Given the description of an element on the screen output the (x, y) to click on. 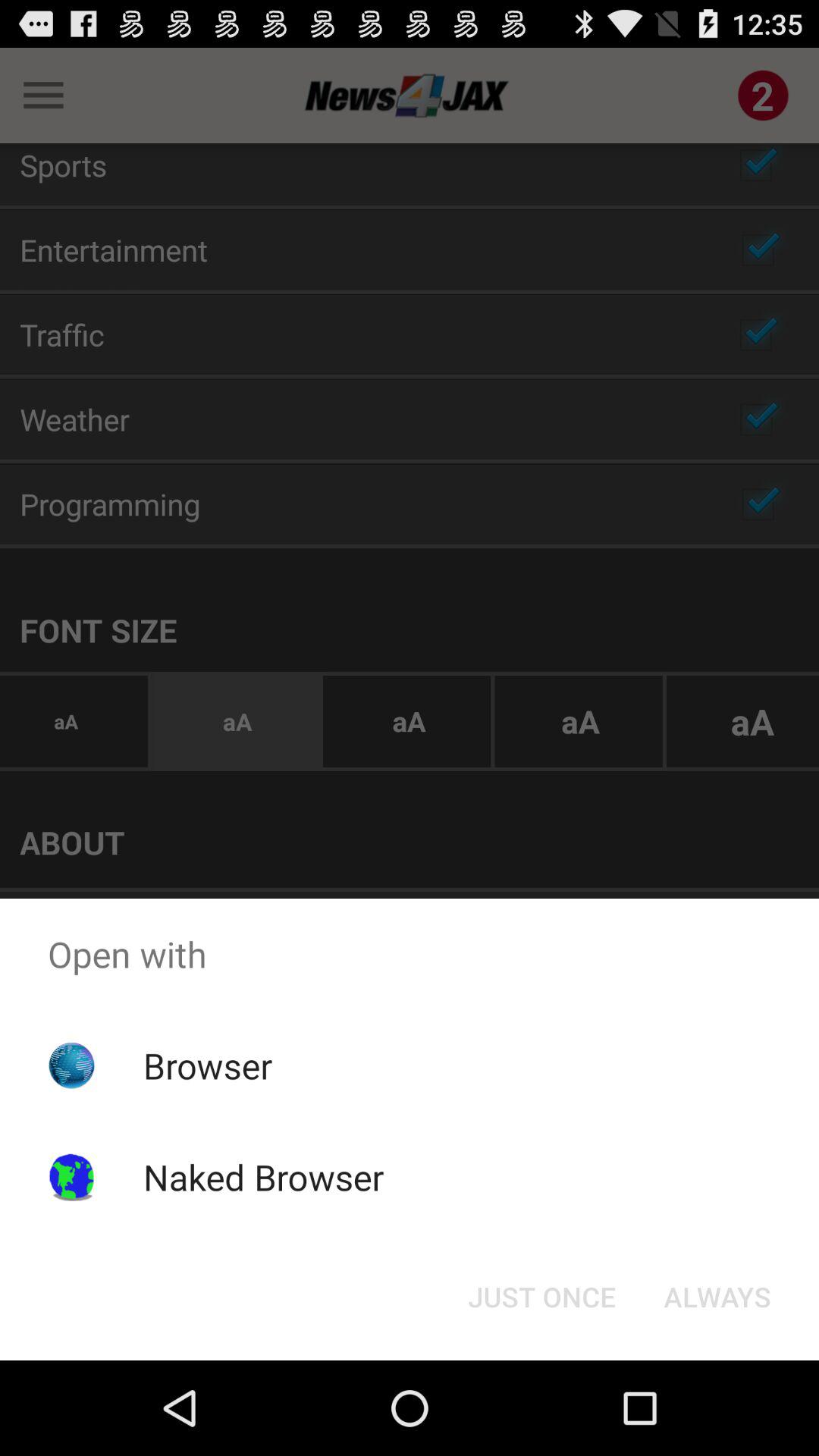
turn on item to the left of always (541, 1296)
